Given the description of an element on the screen output the (x, y) to click on. 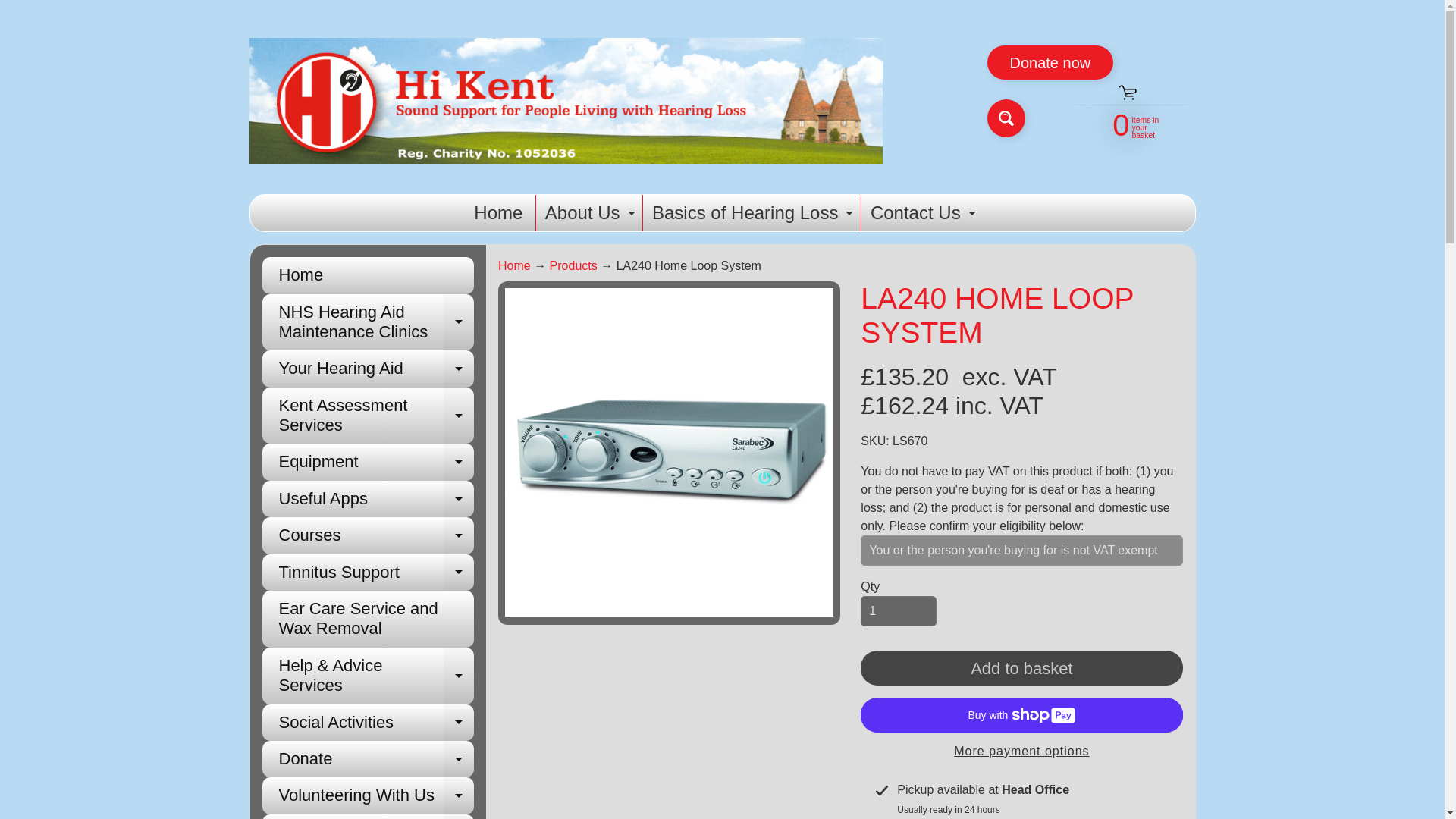
1 (898, 611)
Search (920, 212)
Home (1006, 118)
Skip to content (1122, 123)
Hi Kent (368, 322)
Back to Home Page (497, 212)
